Given the description of an element on the screen output the (x, y) to click on. 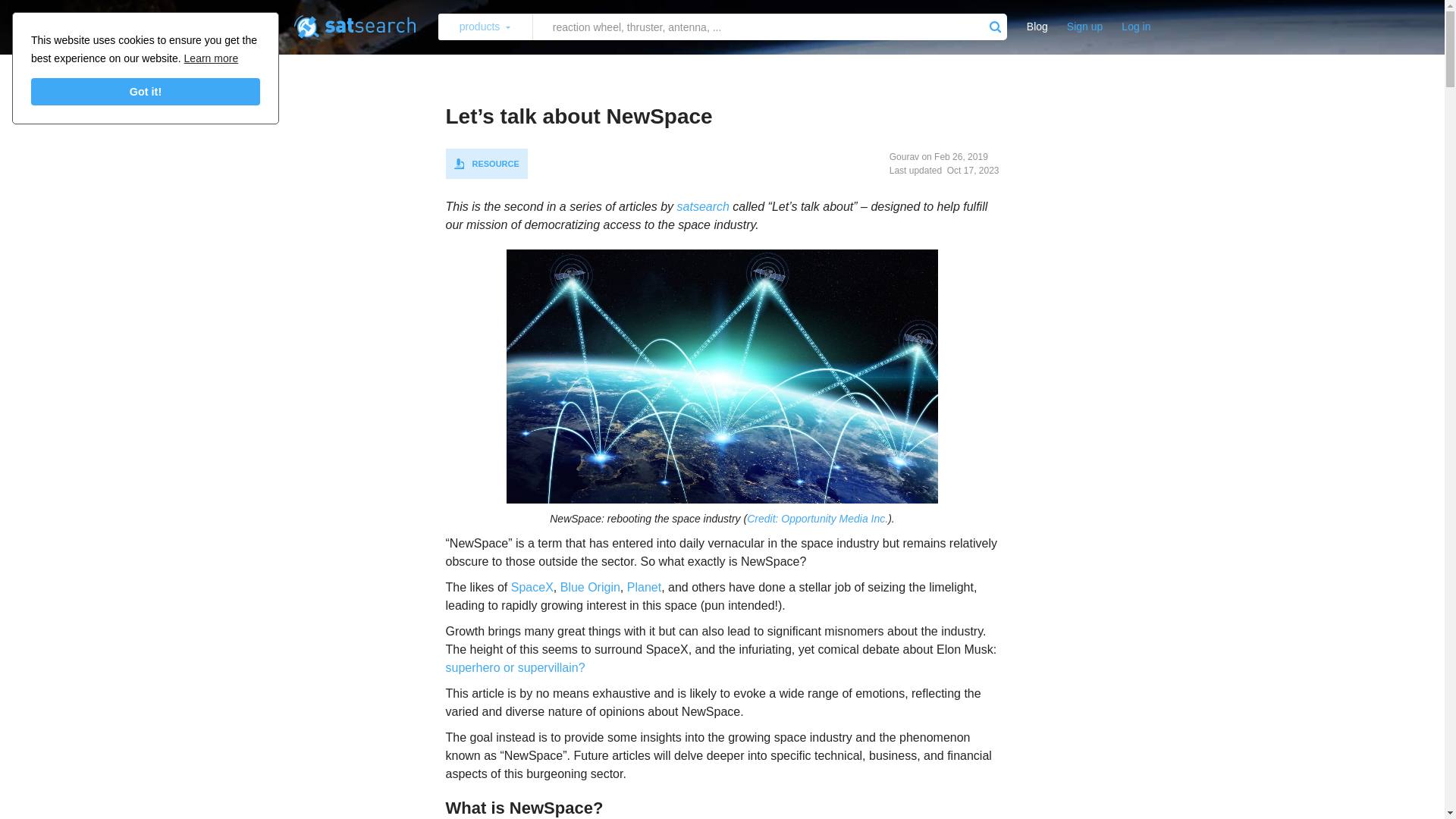
satsearch (703, 205)
Learn more (211, 58)
SpaceX (532, 586)
satsearch - the global space marketplace (703, 205)
products (485, 26)
Elon Musk: superhero or supervillain? (515, 667)
Credit: Opportunity Media Inc. (817, 518)
Planet (644, 586)
Sign up (1084, 26)
Log in (1136, 26)
Blue Origin (590, 586)
superhero or supervillain? (515, 667)
RESOURCE (486, 163)
Got it! (145, 91)
Blue Origin (590, 586)
